Given the description of an element on the screen output the (x, y) to click on. 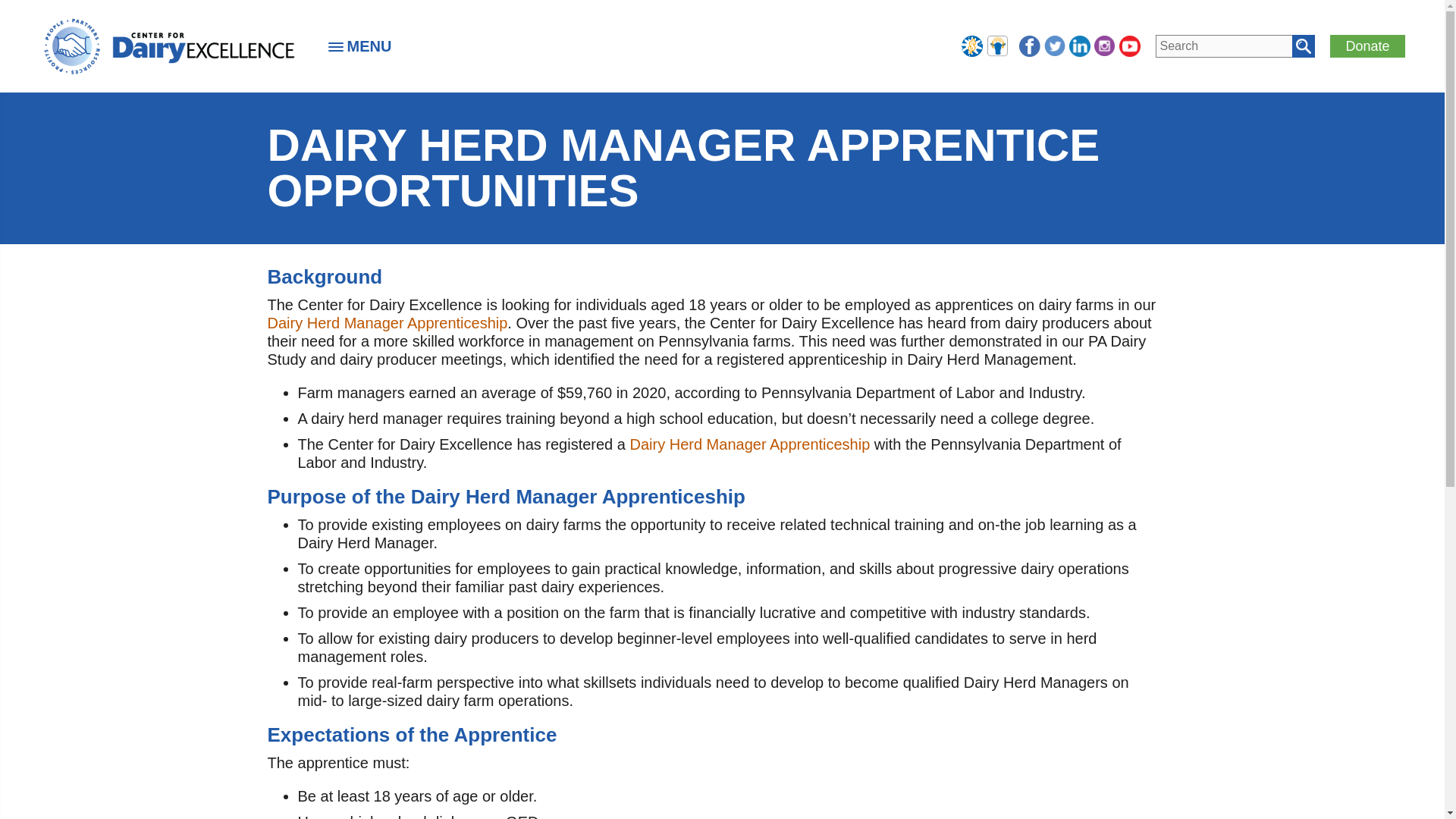
Center for Dairy Excellence (168, 46)
Search (1303, 46)
Donate (1367, 46)
Search (1303, 46)
